Given the description of an element on the screen output the (x, y) to click on. 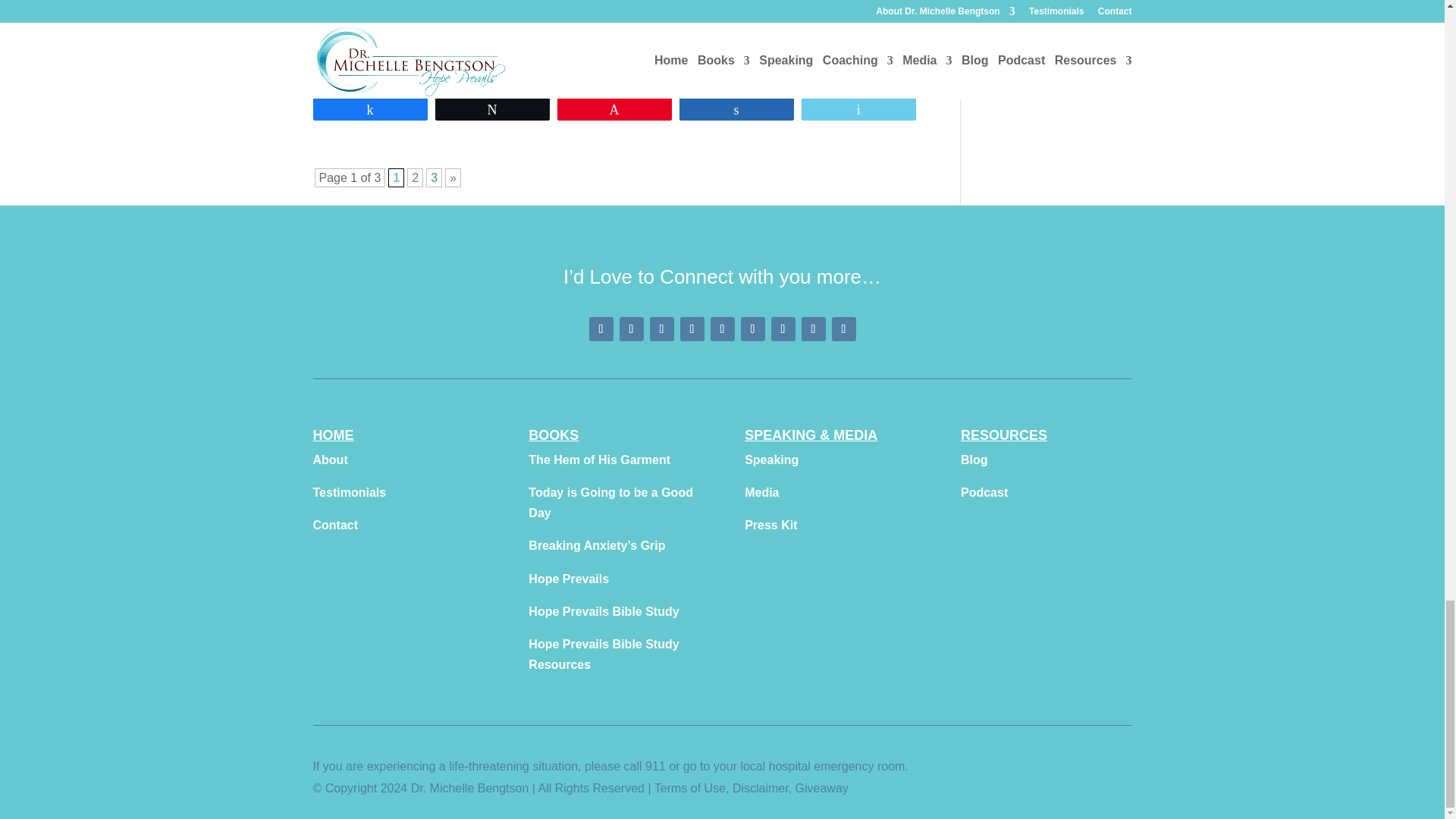
Follow on Facebook (600, 328)
Follow on Youtube (691, 328)
Follow on Twitter (721, 328)
Follow on Podcast (782, 328)
Follow on LinkedIn (751, 328)
Follow on Pinterest (630, 328)
Follow on Instagram (660, 328)
